Given the description of an element on the screen output the (x, y) to click on. 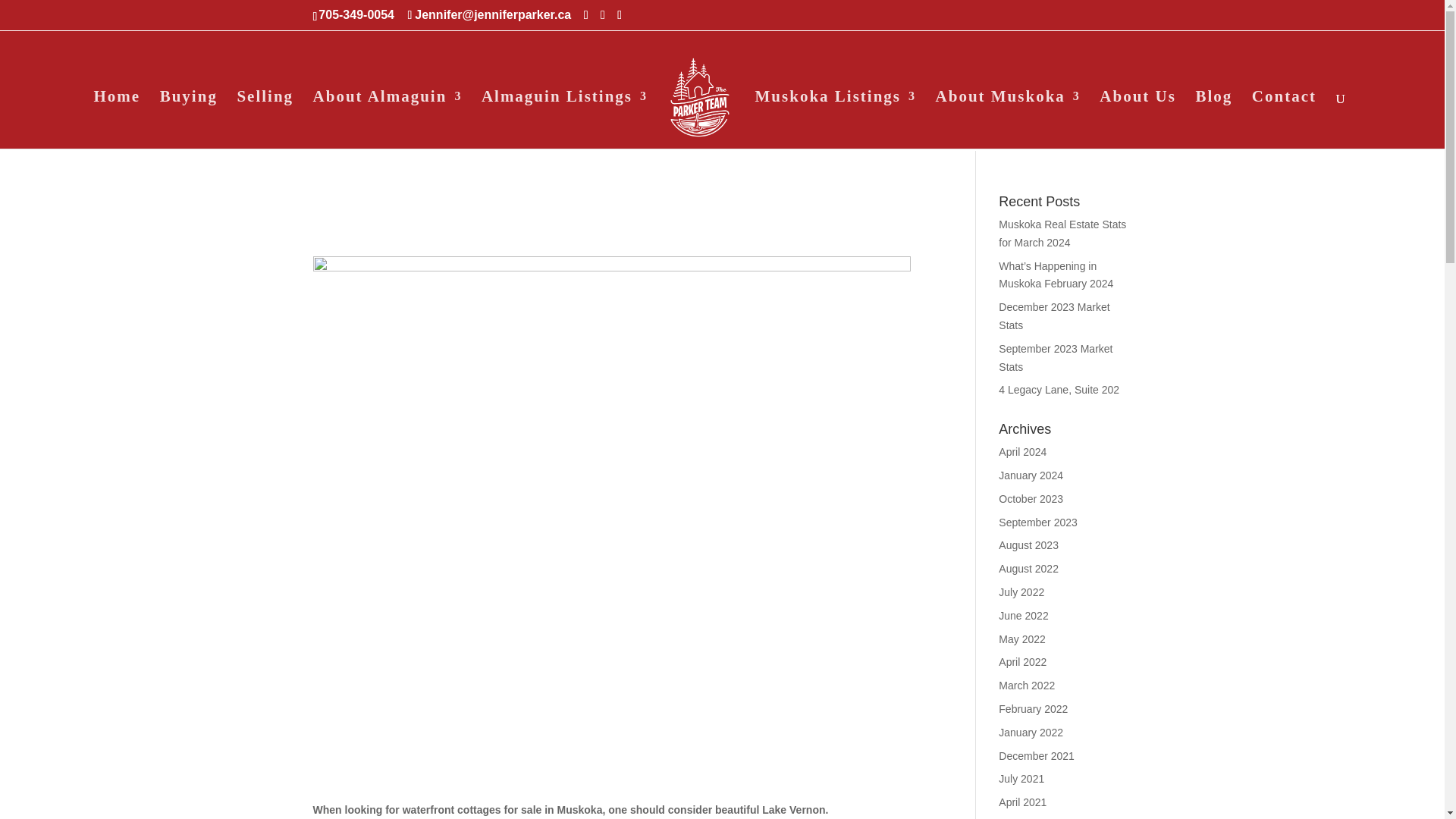
Buying (188, 119)
About Muskoka (1008, 119)
Muskoka Listings (835, 119)
Selling (264, 119)
705-349-0054 (357, 14)
Almaguin Listings (564, 119)
About Almaguin (388, 119)
